Given the description of an element on the screen output the (x, y) to click on. 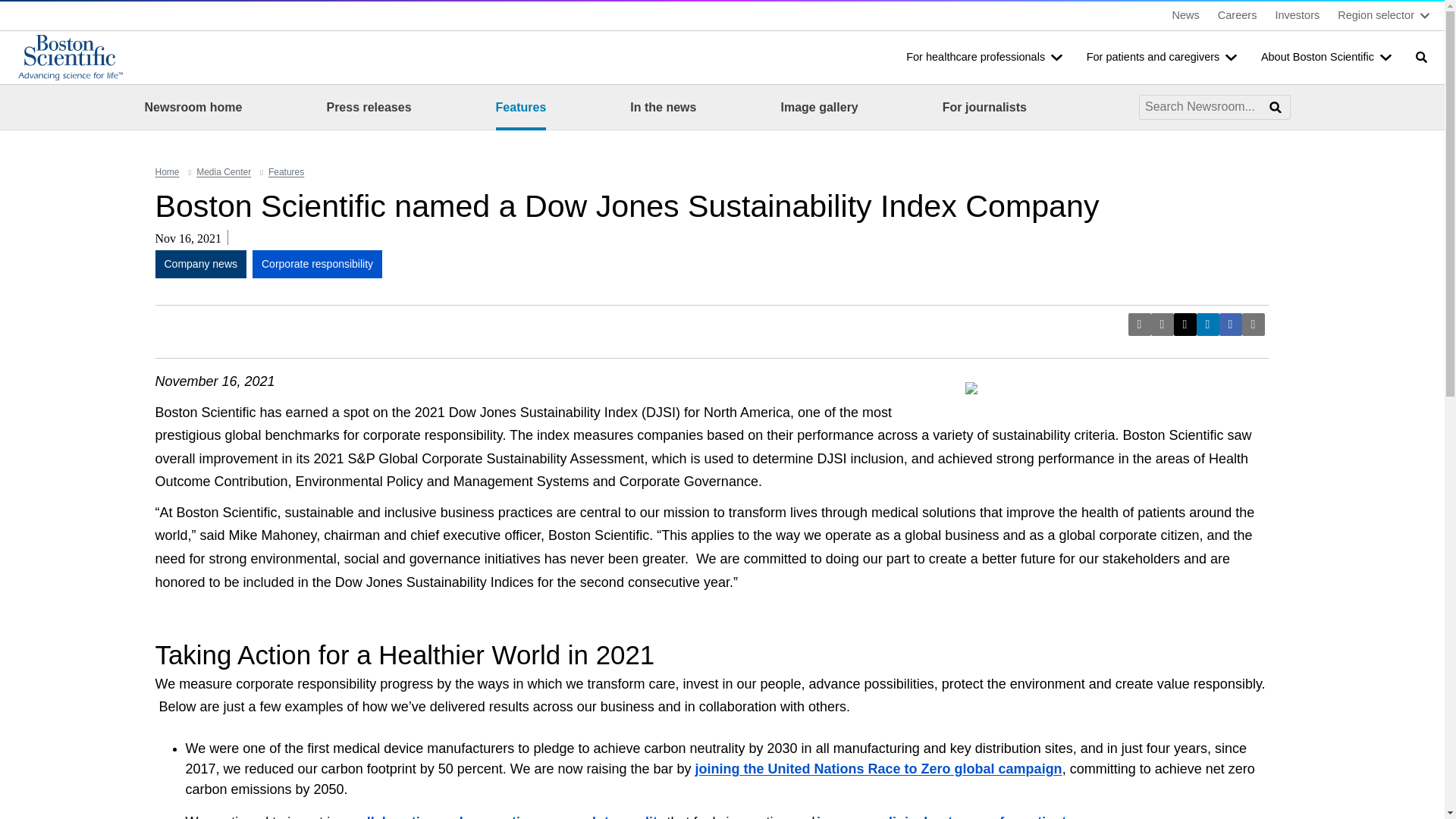
Careers (1237, 15)
Search (1420, 57)
For patients and caregivers (1161, 57)
News (1185, 15)
Region selector (1382, 15)
Investors (1296, 15)
For healthcare professionals (983, 57)
About Boston Scientific (1326, 57)
